Given the description of an element on the screen output the (x, y) to click on. 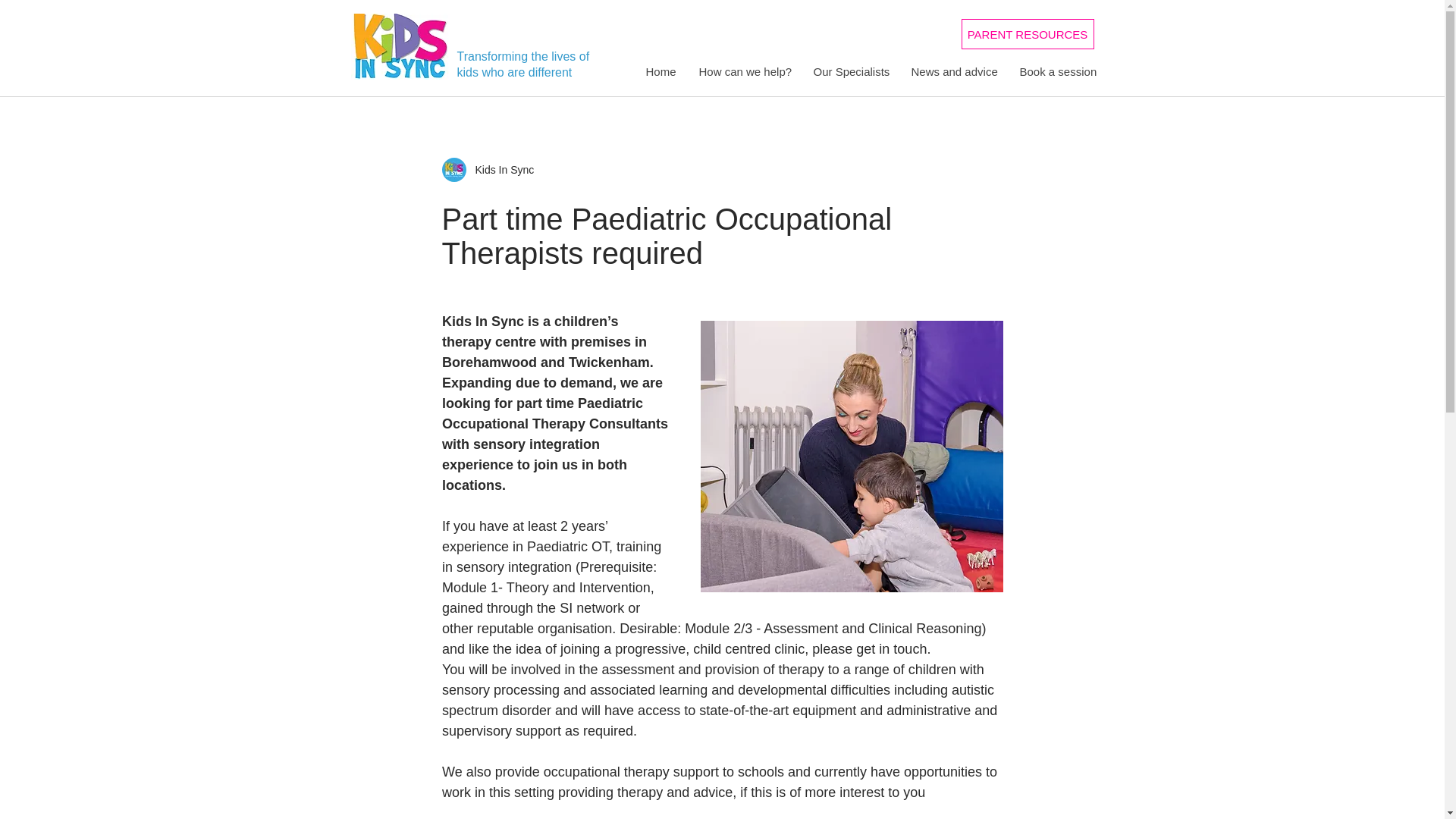
Home (660, 71)
Our Specialists (850, 71)
Kids In Sync (499, 170)
PARENT RESOURCES (1027, 33)
News and advice (953, 71)
Book a session (1057, 71)
How can we help? (744, 71)
